Given the description of an element on the screen output the (x, y) to click on. 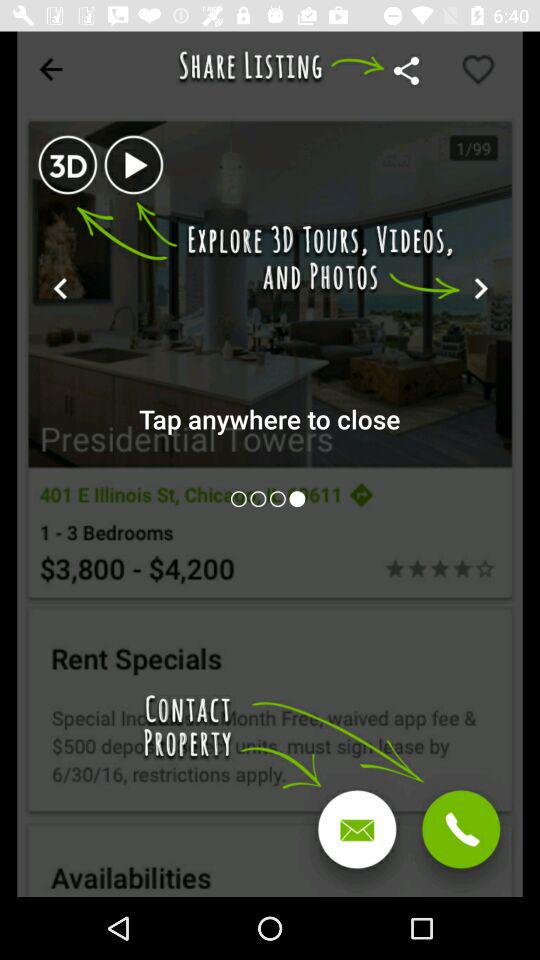
open page (279, 498)
